Given the description of an element on the screen output the (x, y) to click on. 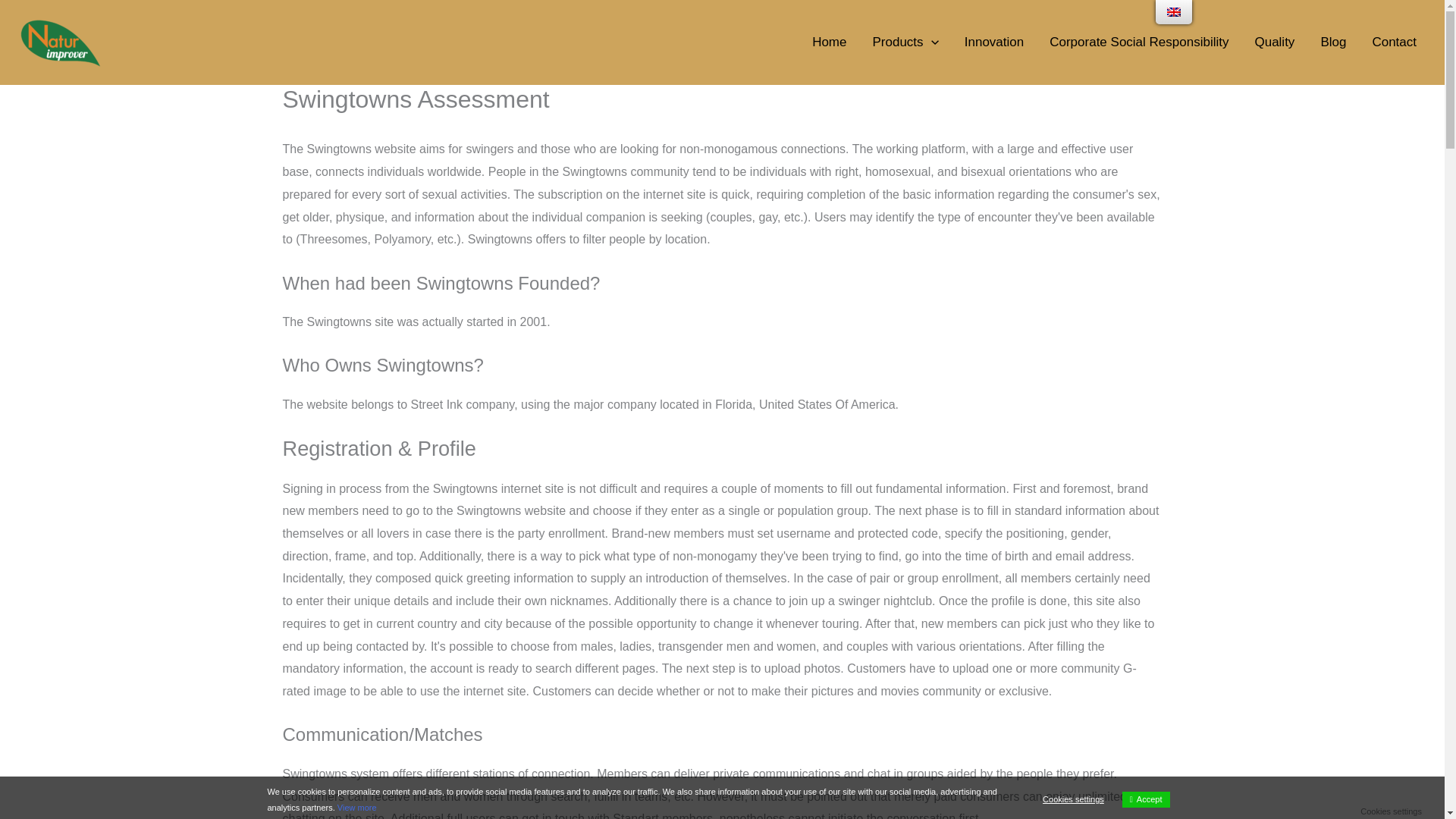
English (1173, 11)
Corporate Social Responsibility (1138, 41)
Innovation (994, 41)
Contact (1393, 41)
Home (829, 41)
Products (904, 41)
Blog (1332, 41)
Quality (1274, 41)
